Given the description of an element on the screen output the (x, y) to click on. 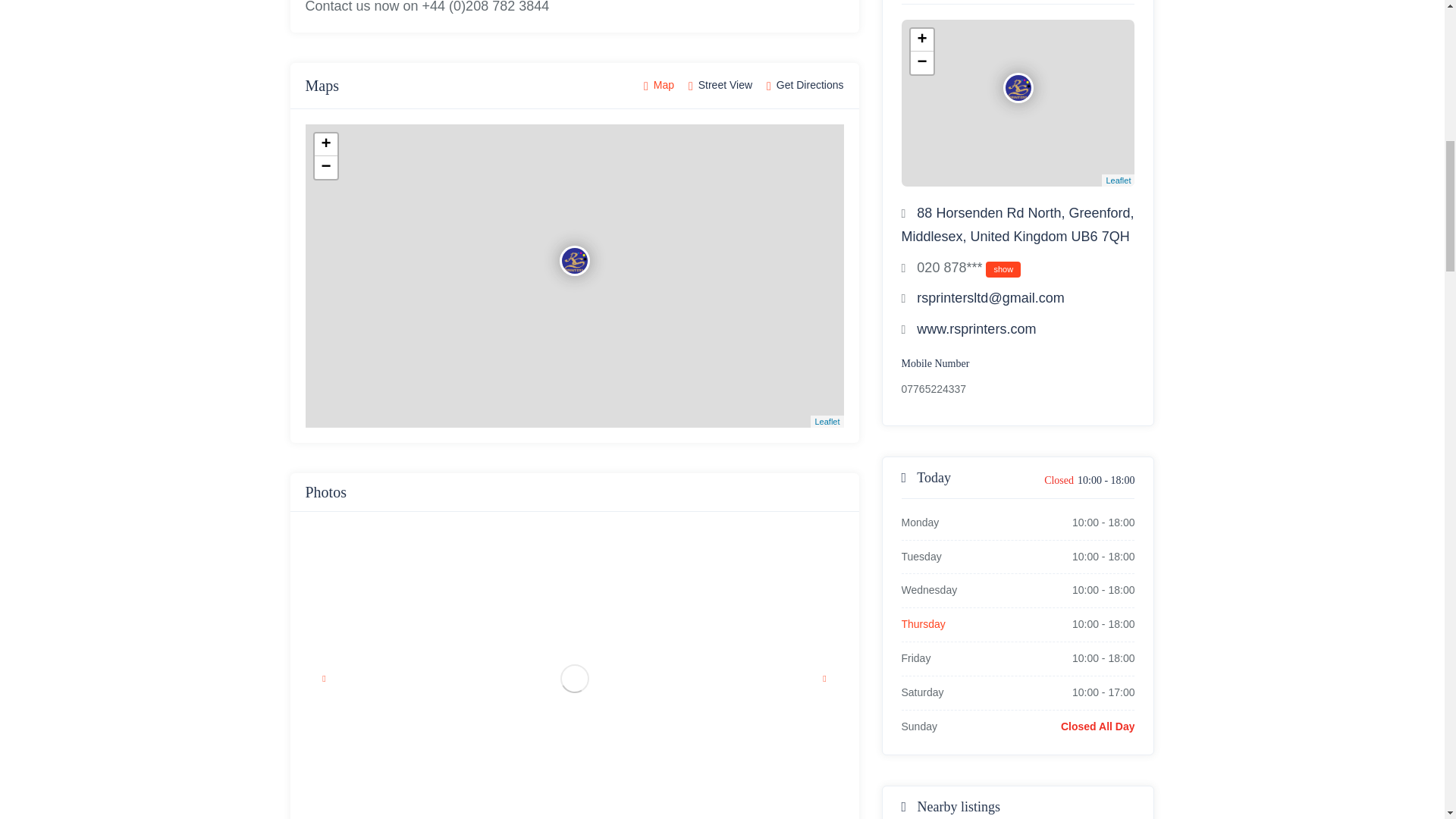
A JS library for interactive maps (826, 420)
Get Directions (805, 85)
Zoom out (325, 167)
Zoom in (325, 144)
Street View (720, 85)
Zoom out (921, 62)
Zoom in (921, 39)
Leaflet (826, 420)
Map (658, 85)
A JS library for interactive maps (1118, 180)
